Given the description of an element on the screen output the (x, y) to click on. 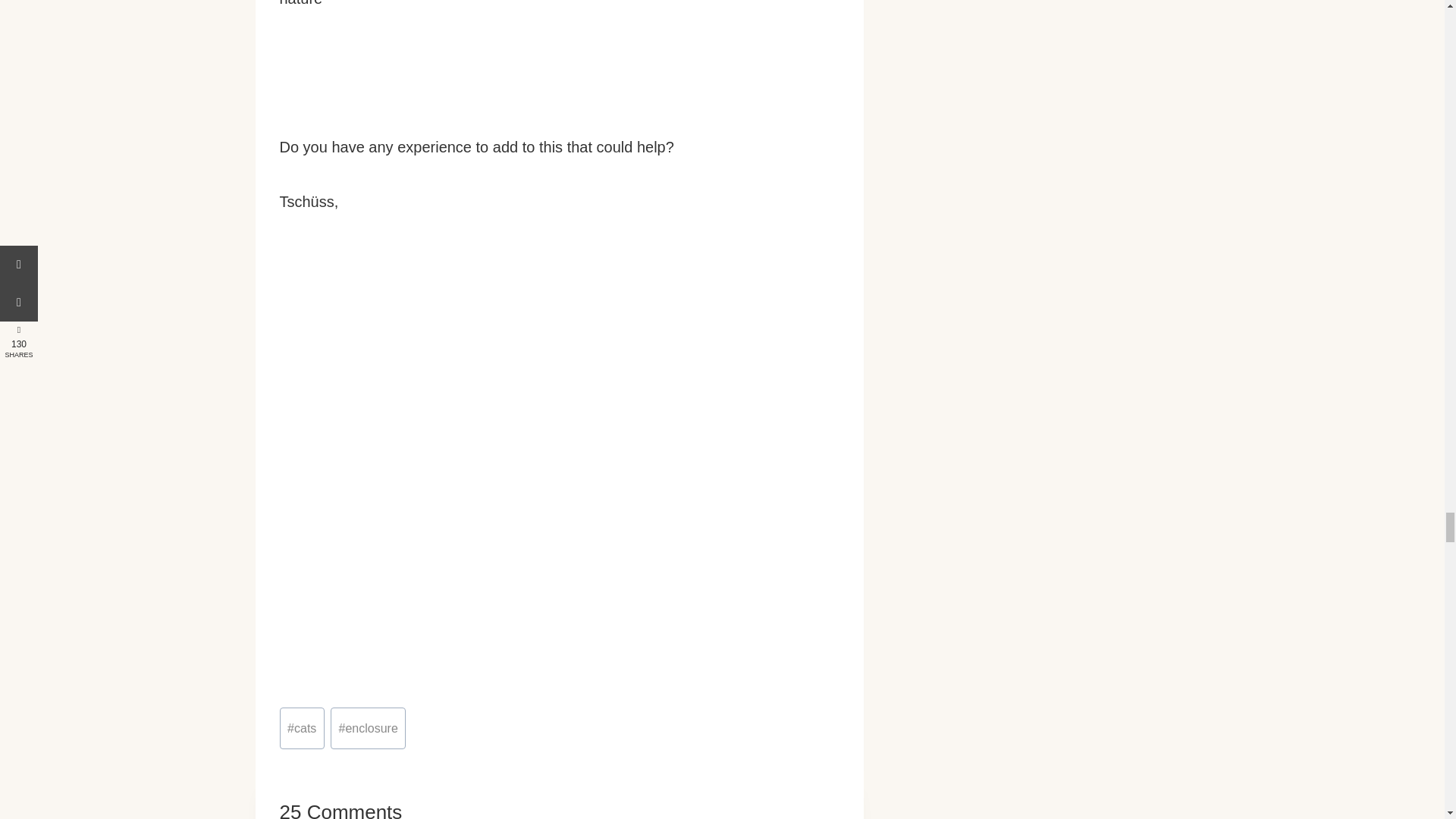
enclosure (368, 728)
cats (301, 728)
